Given the description of an element on the screen output the (x, y) to click on. 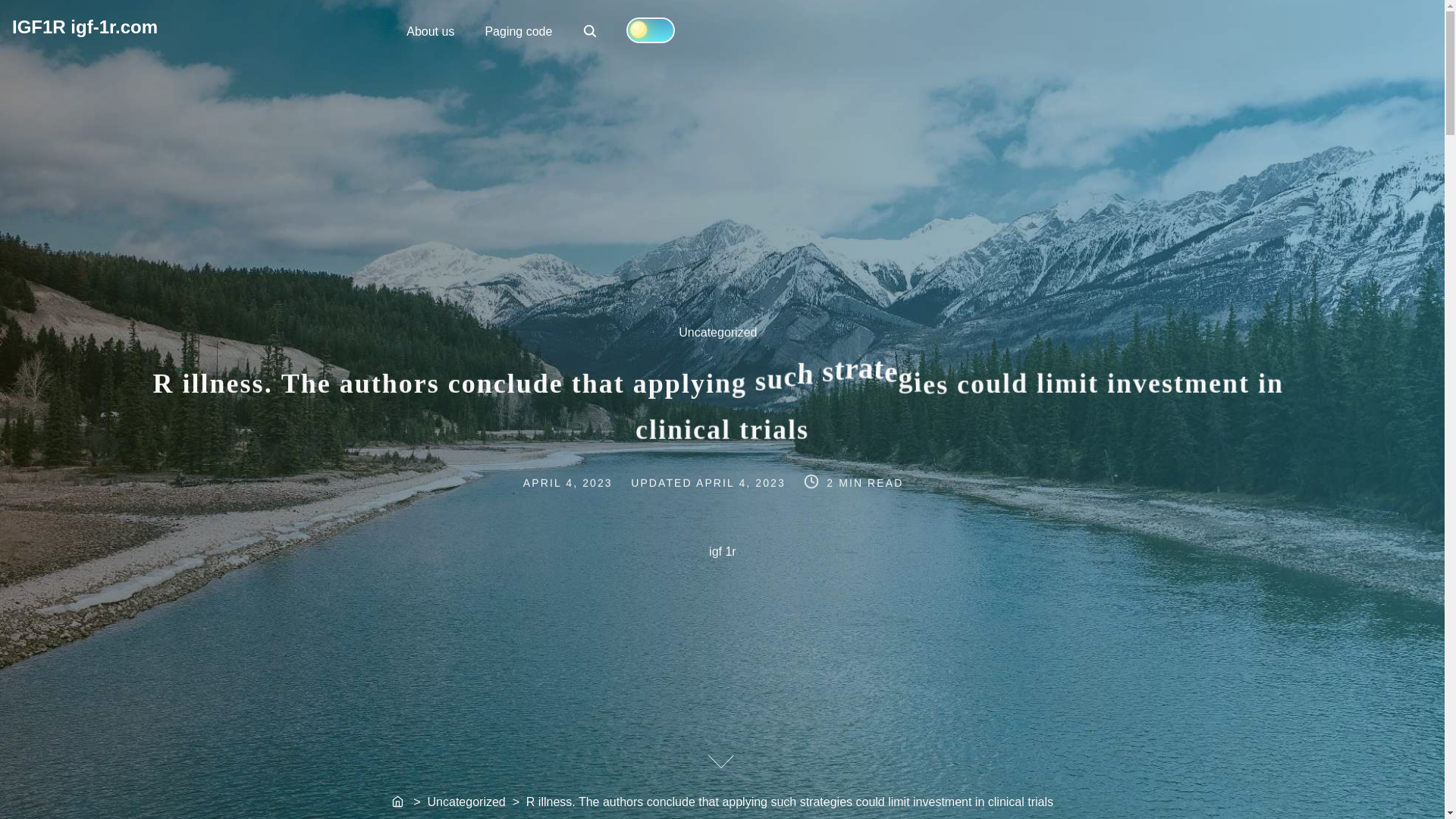
Uncategorized (726, 341)
Search (589, 30)
IGF1R igf-1r.com (84, 26)
Home (398, 802)
Paging code (517, 30)
About us (590, 31)
APRIL 4, 2023 (429, 30)
APRIL 4, 2023 (742, 480)
